Given the description of an element on the screen output the (x, y) to click on. 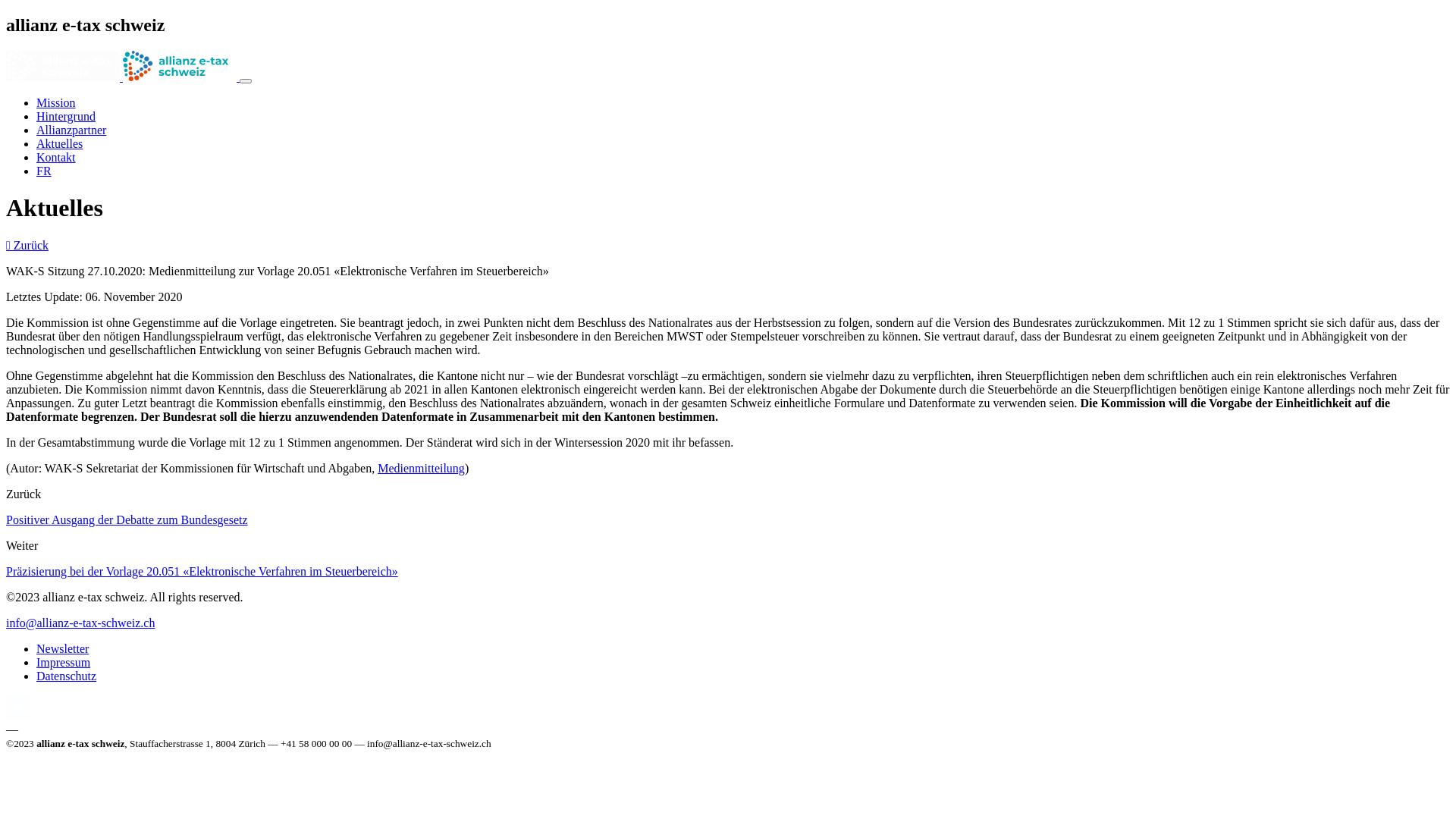
Datenschutz Element type: text (66, 675)
Allianzpartner Element type: text (71, 129)
Aktuelles Element type: text (59, 143)
FR Element type: text (43, 170)
info@allianz-e-tax-schweiz.ch Element type: text (80, 622)
Impressum Element type: text (63, 661)
Hintergrund Element type: text (65, 115)
Newsletter Element type: text (62, 648)
Kontakt Element type: text (55, 156)
Positiver Ausgang der Debatte zum Bundesgesetz Element type: text (126, 519)
Medienmitteilung Element type: text (420, 467)
Mission Element type: text (55, 102)
